Given the description of an element on the screen output the (x, y) to click on. 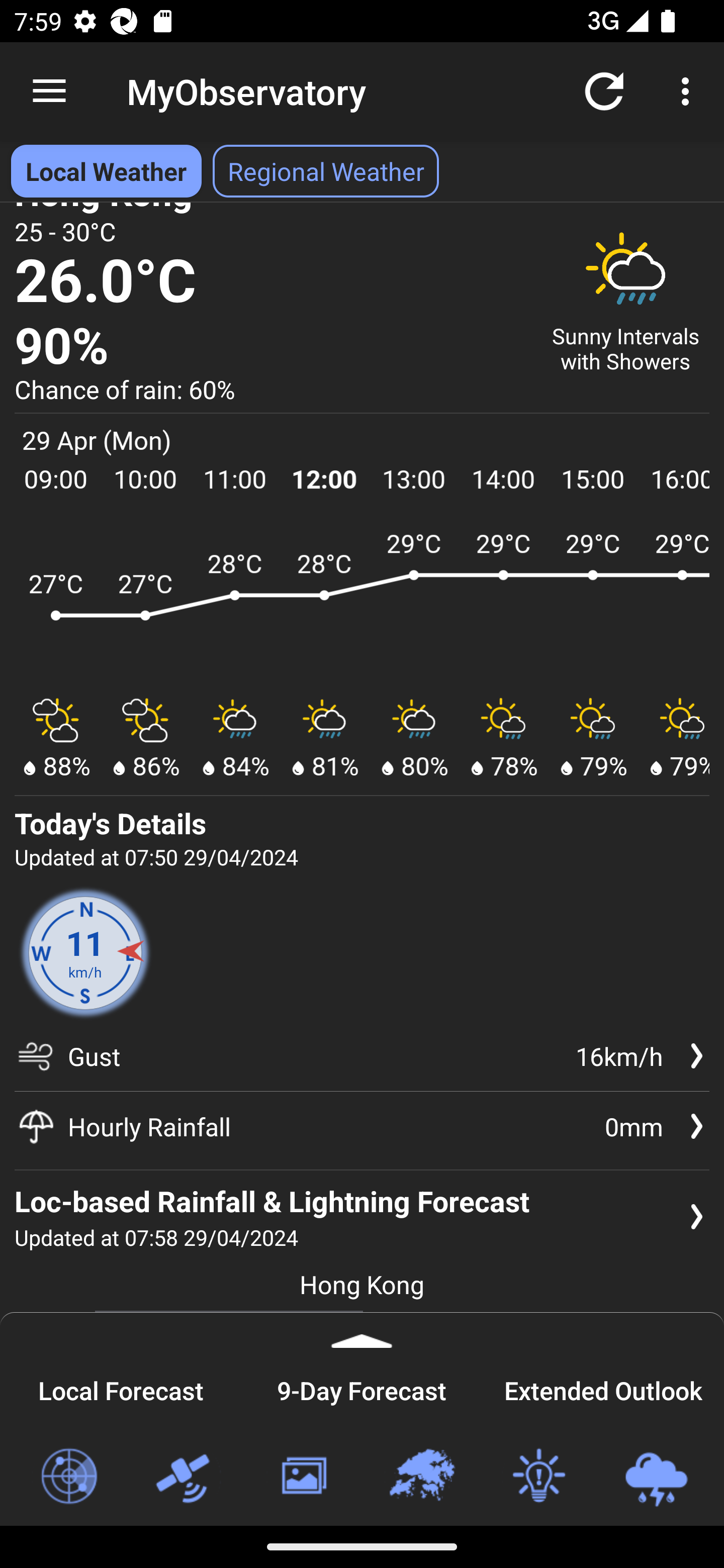
Navigate up (49, 91)
Refresh (604, 90)
More options (688, 90)
Local Weather Local Weather selected (105, 170)
Regional Weather Select Regional Weather (325, 170)
26.0°C Temperature
26.0 degree Celsius (270, 282)
90% Relative Humidity
90 percent (270, 347)
ARWF (361, 604)
Gust 16km/h Gust 16km/h (361, 1062)
Hourly Rainfall 0mm Hourly Rainfall 0mm (361, 1126)
Expand (362, 1330)
Local Forecast (120, 1387)
Extended Outlook (603, 1387)
Radar Images (68, 1476)
Satellite Images (185, 1476)
Weather Photos (302, 1476)
Regional Weather (420, 1476)
Weather Tips (537, 1476)
Loc-based Rain & Lightning Forecast (655, 1476)
